Given the description of an element on the screen output the (x, y) to click on. 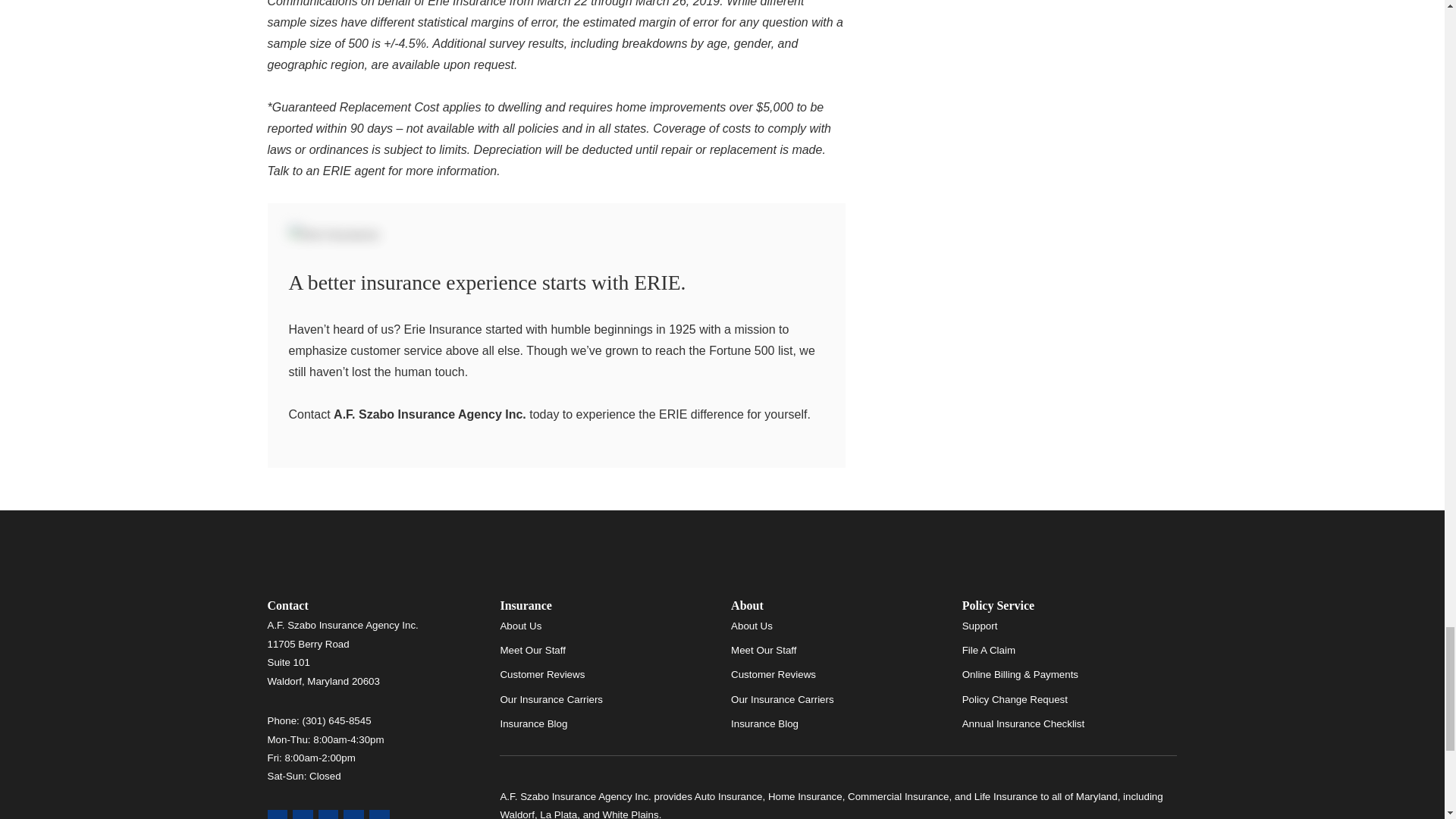
LinkedIn (379, 814)
Yelp (302, 814)
X (353, 814)
Facebook (328, 814)
Google Maps (276, 814)
